Given the description of an element on the screen output the (x, y) to click on. 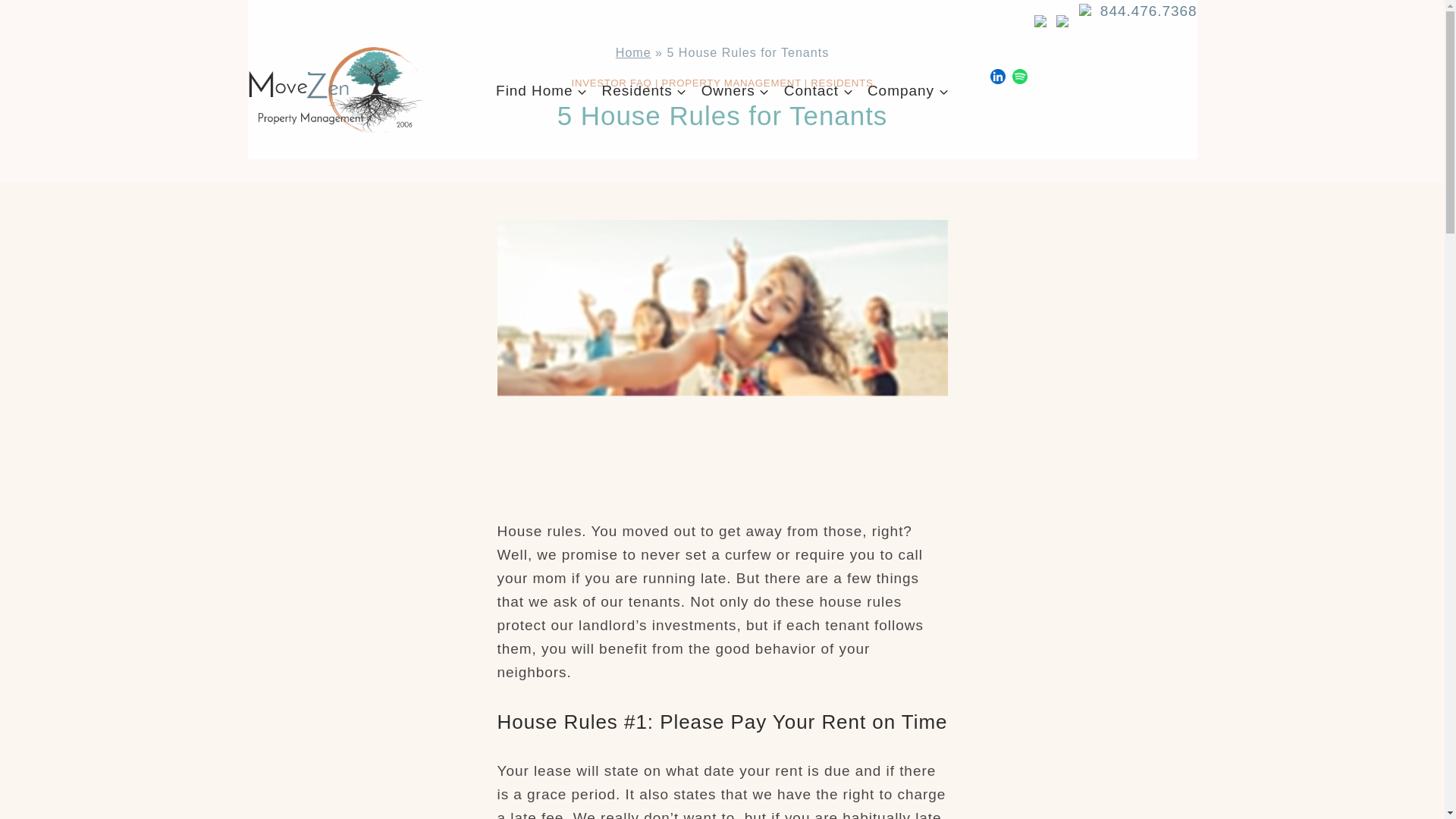
Owners (735, 90)
Residents (644, 90)
Contact (818, 90)
Find Home (541, 90)
